Given the description of an element on the screen output the (x, y) to click on. 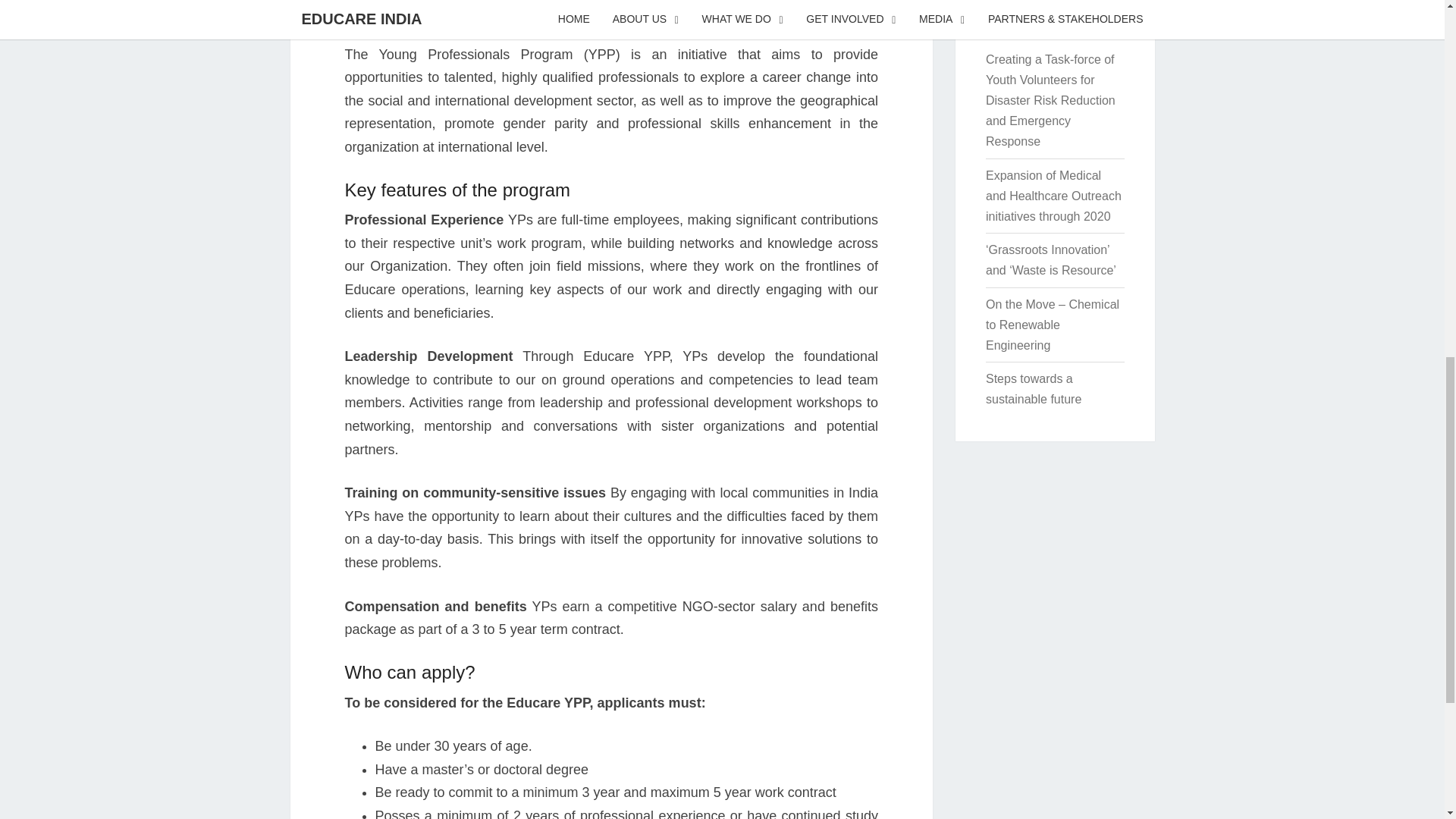
Steps towards a sustainable future (1033, 388)
